Given the description of an element on the screen output the (x, y) to click on. 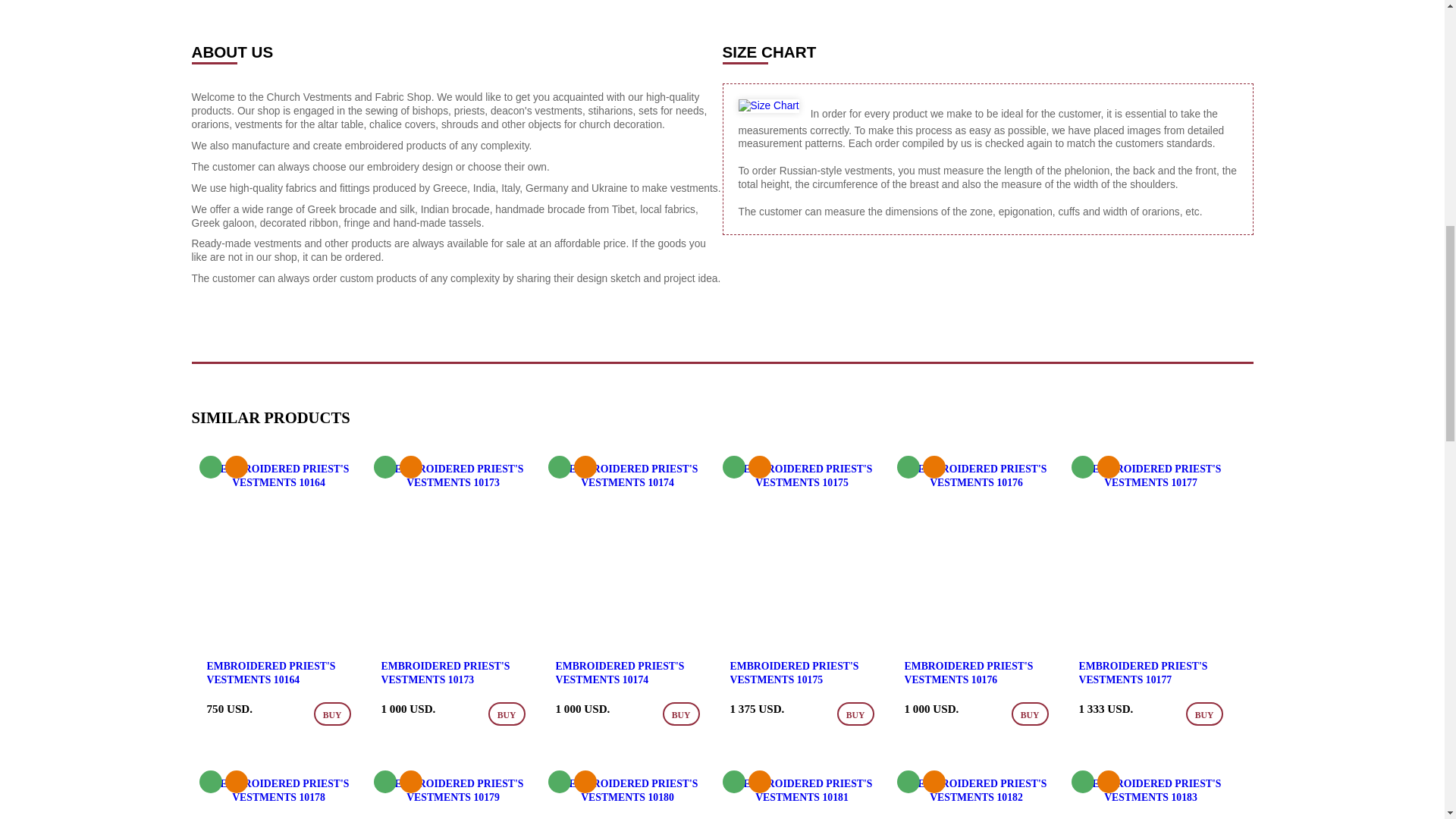
BUY (681, 713)
BUY (1029, 713)
BUY (332, 713)
BUY (506, 713)
BUY (856, 713)
Free delivery (209, 466)
EMBROIDERED PRIEST'S VESTMENTS 10178 (278, 798)
Size Chart (768, 106)
Cargo insurance (235, 466)
BUY (1204, 713)
